Given the description of an element on the screen output the (x, y) to click on. 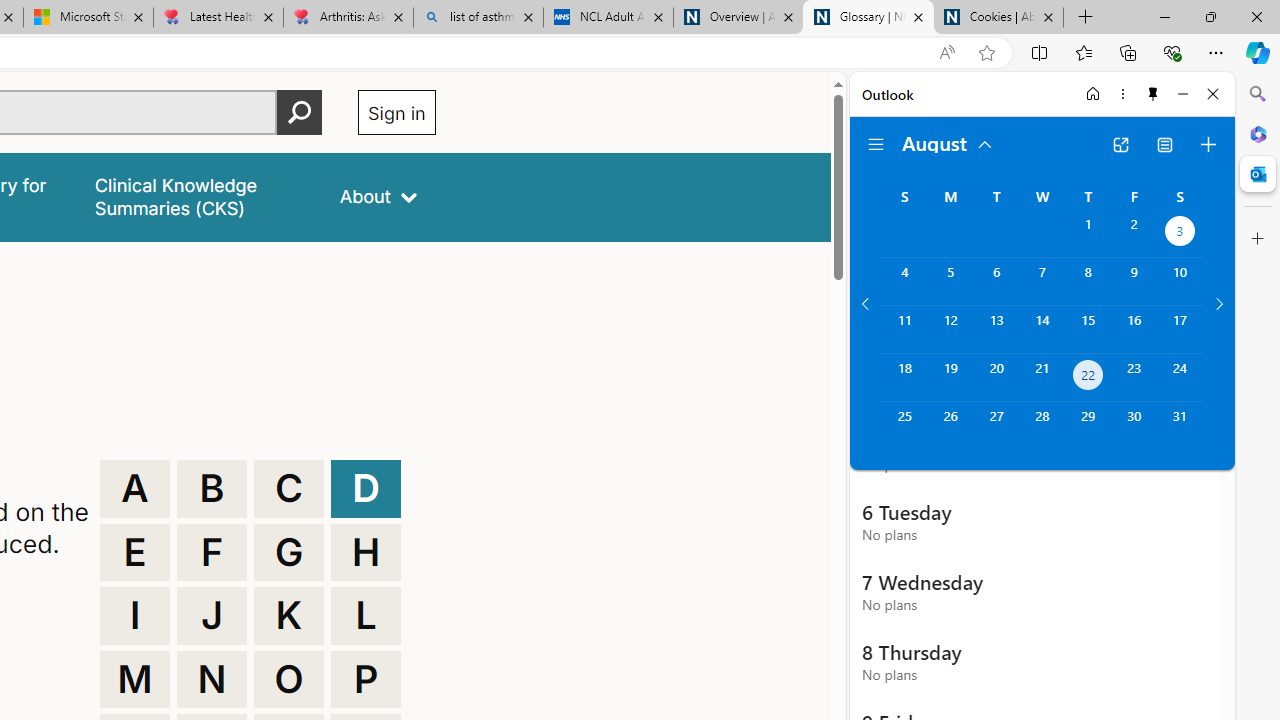
Home (1093, 93)
Thursday, August 29, 2024.  (1088, 425)
L (365, 615)
M (134, 679)
Saturday, August 3, 2024. Date selected.  (1180, 233)
D (365, 488)
D (365, 488)
Read aloud this page (Ctrl+Shift+U) (946, 53)
E (134, 551)
Close Outlook pane (1258, 174)
F (212, 551)
Tuesday, August 13, 2024.  (996, 329)
August (948, 141)
O (289, 679)
